Given the description of an element on the screen output the (x, y) to click on. 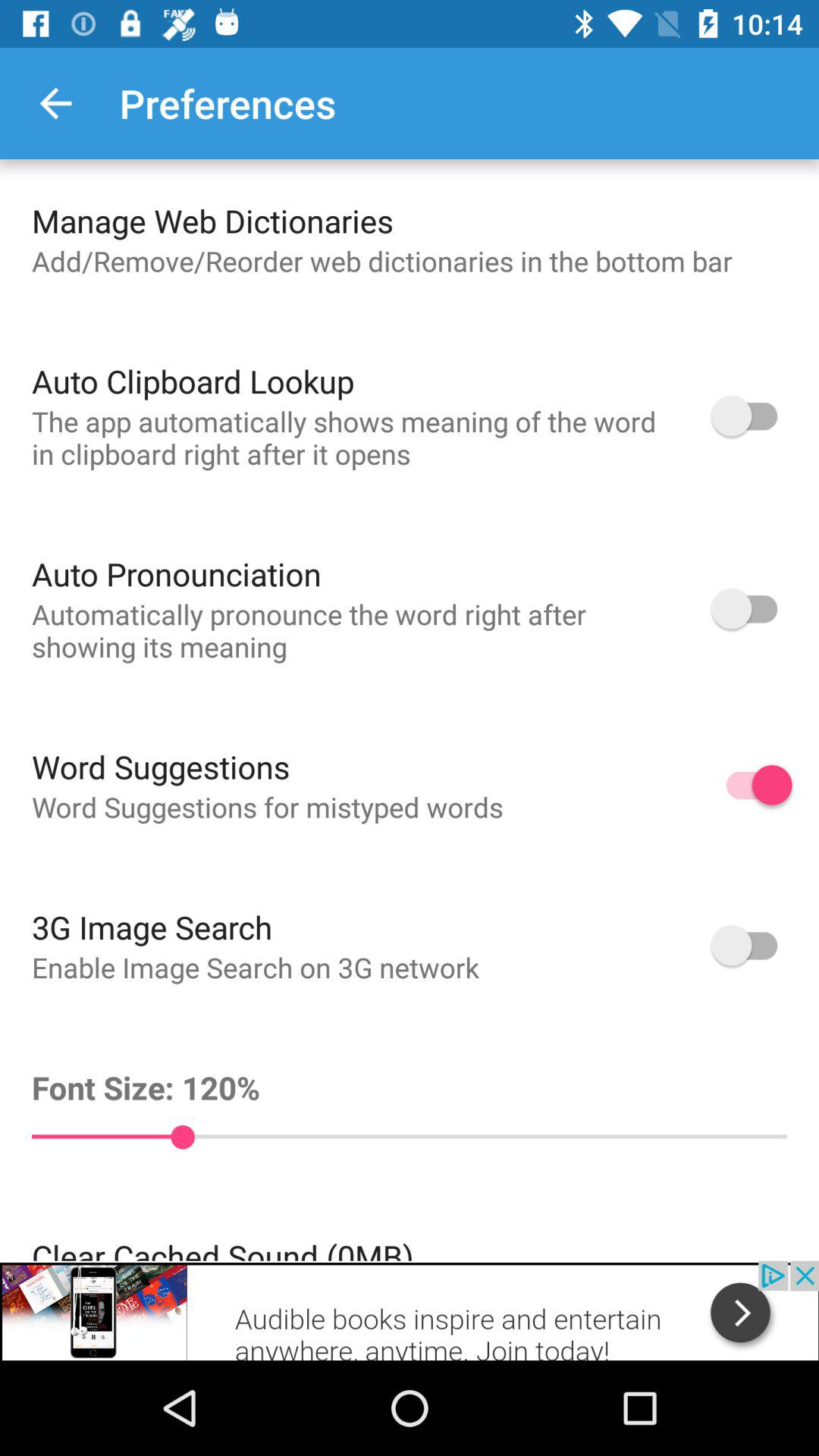
toggle auto pronunciation (751, 608)
